Given the description of an element on the screen output the (x, y) to click on. 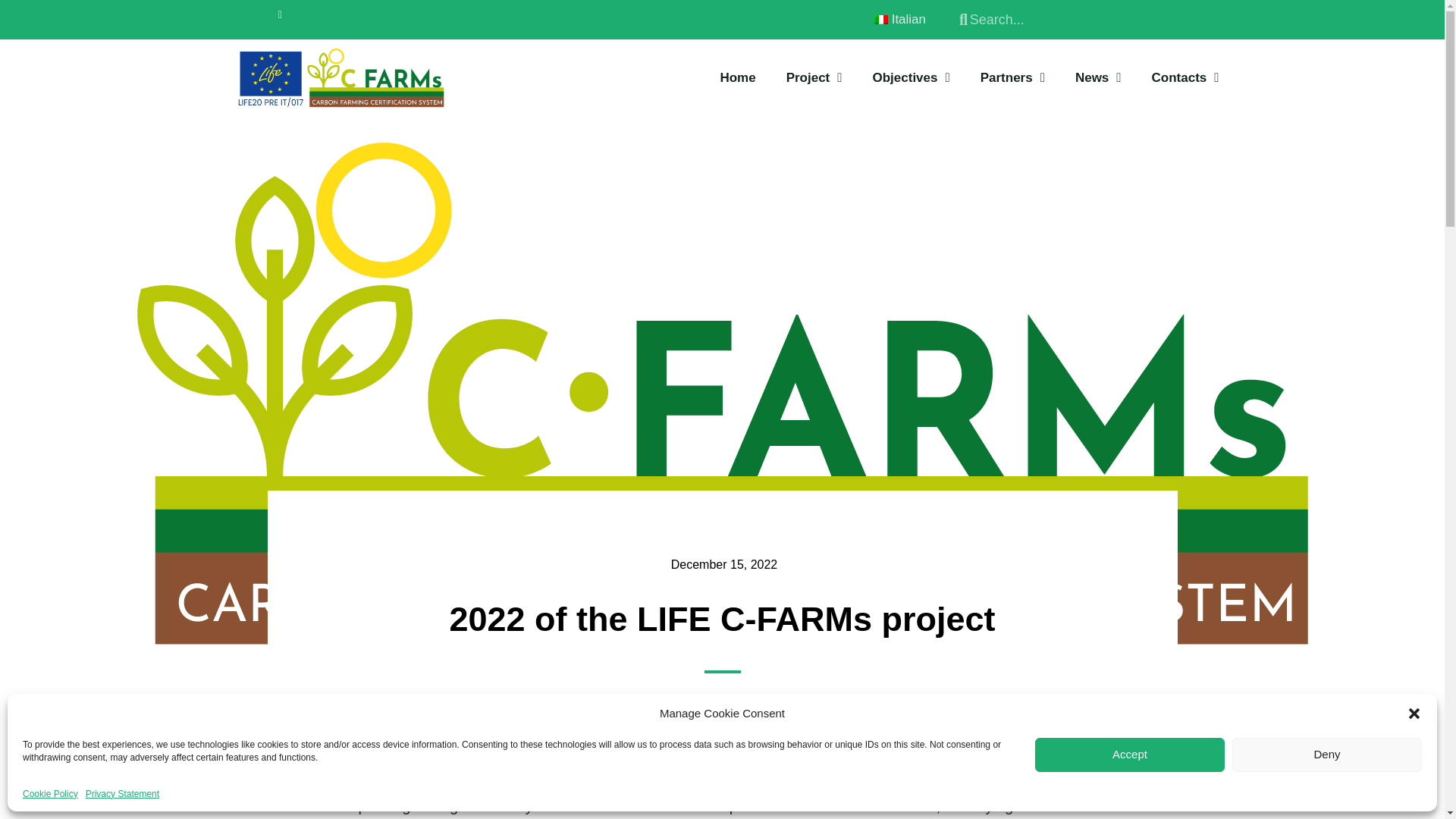
Italian (898, 19)
Contacts (1185, 77)
Italian (881, 19)
News (1098, 77)
Project (814, 77)
Home (737, 77)
Objectives (910, 77)
Partners (1012, 77)
